Given the description of an element on the screen output the (x, y) to click on. 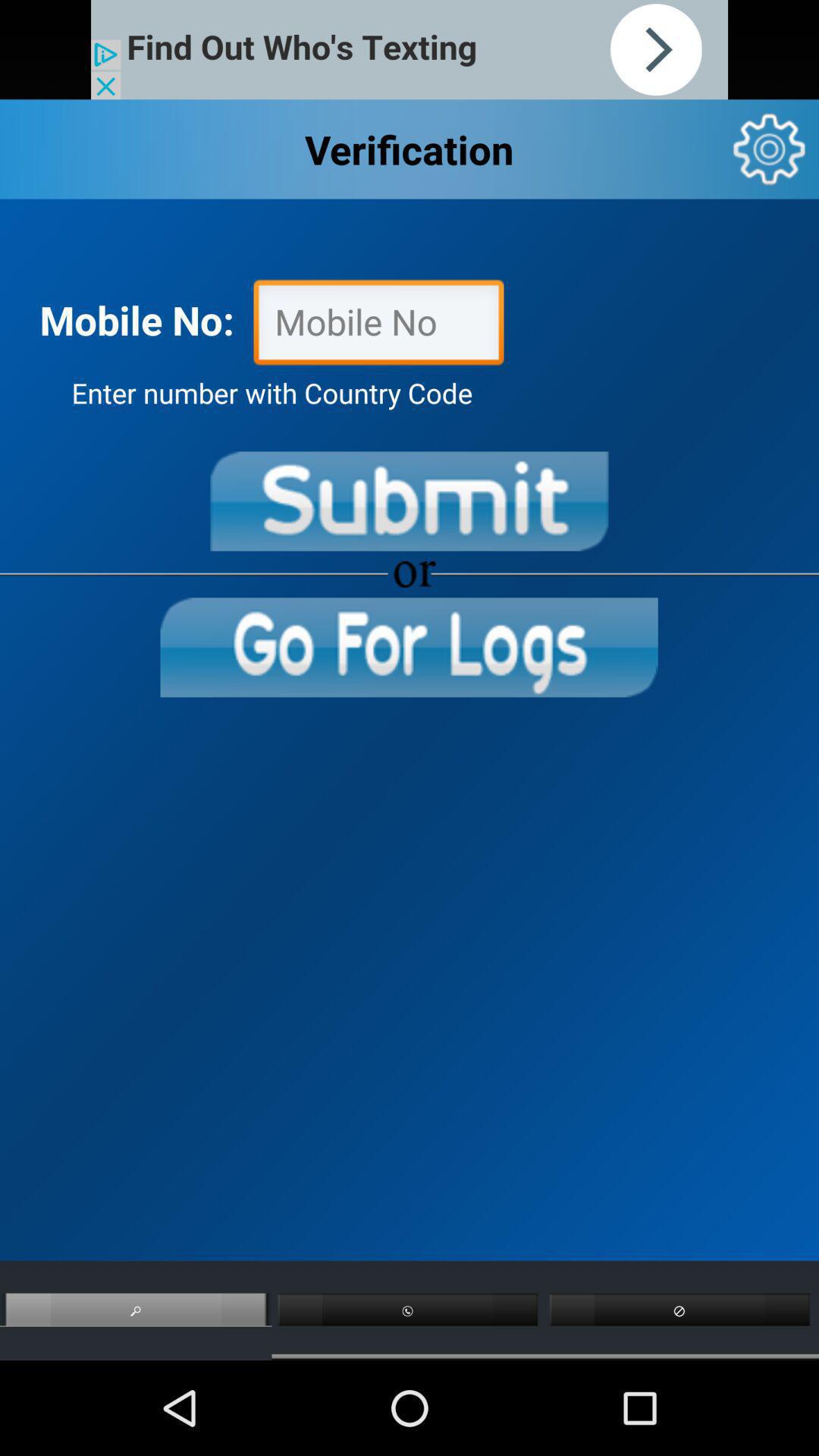
enter mobile number (378, 326)
